Given the description of an element on the screen output the (x, y) to click on. 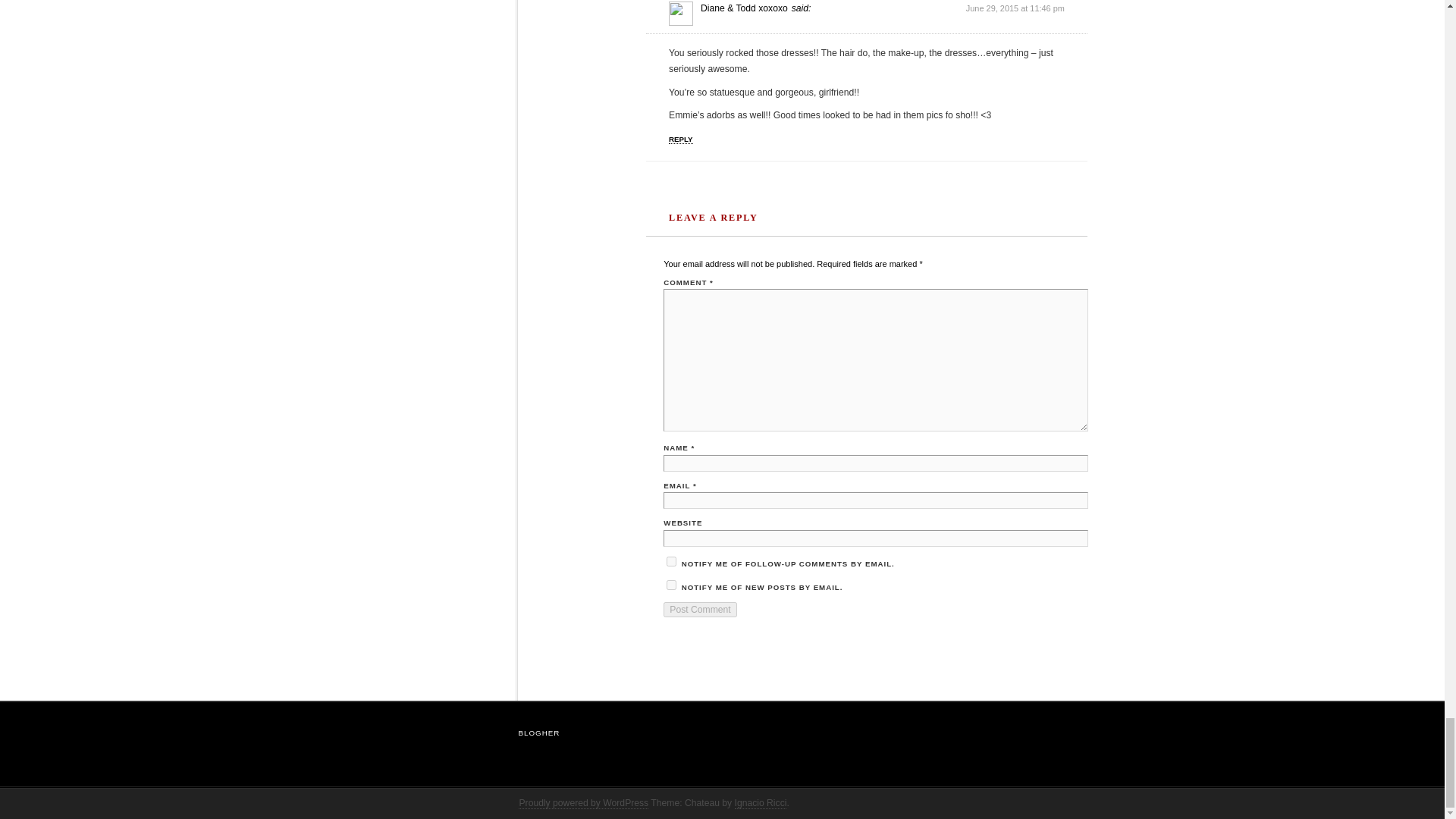
Post Comment (699, 609)
subscribe (671, 584)
Post Comment (699, 609)
REPLY (680, 139)
subscribe (671, 561)
June 29, 2015 at 11:46 pm (1015, 8)
